Given the description of an element on the screen output the (x, y) to click on. 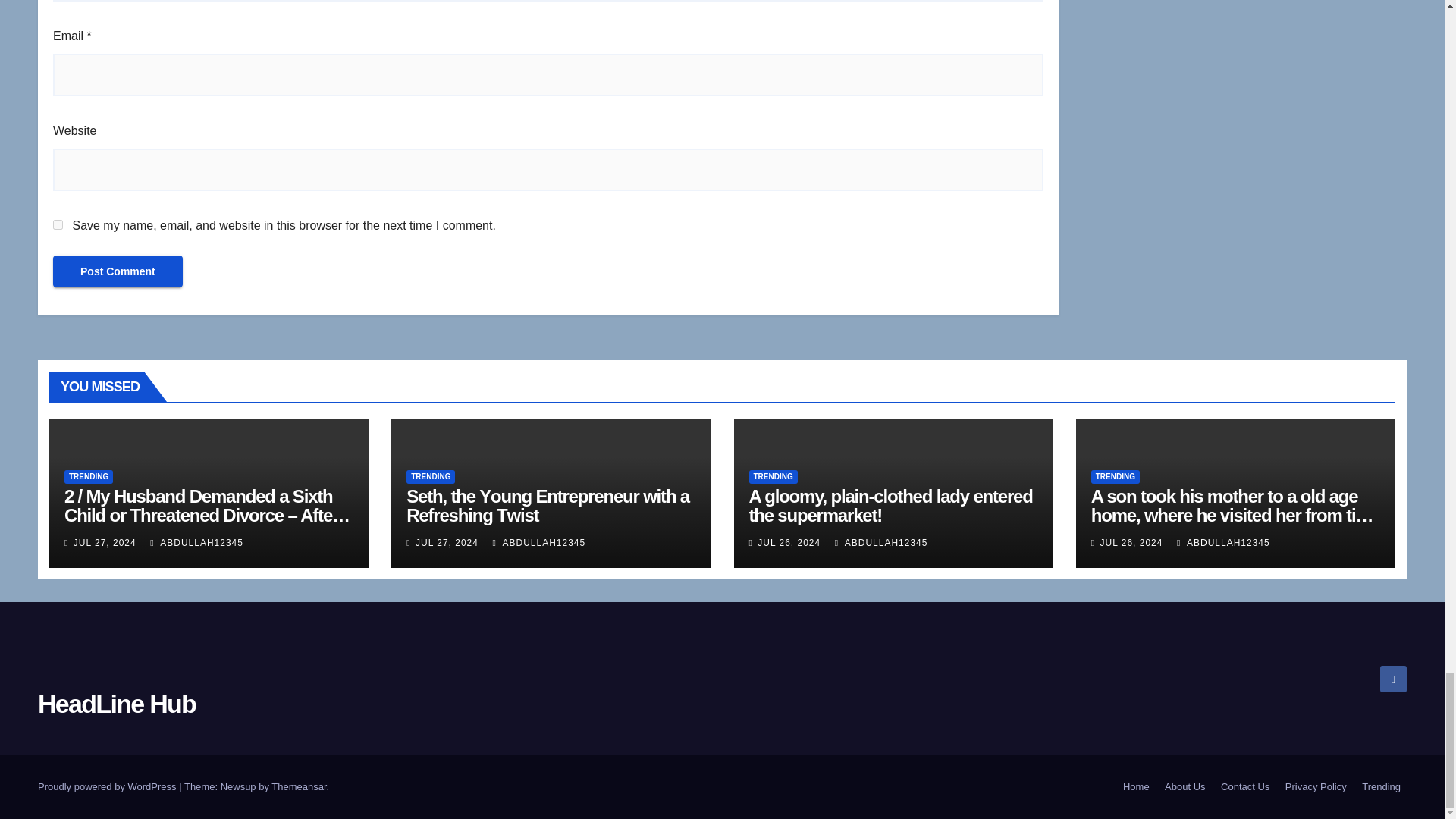
About Us (1184, 786)
Home (1136, 786)
yes (57, 225)
Contact Us (1244, 786)
Post Comment (117, 271)
